Given the description of an element on the screen output the (x, y) to click on. 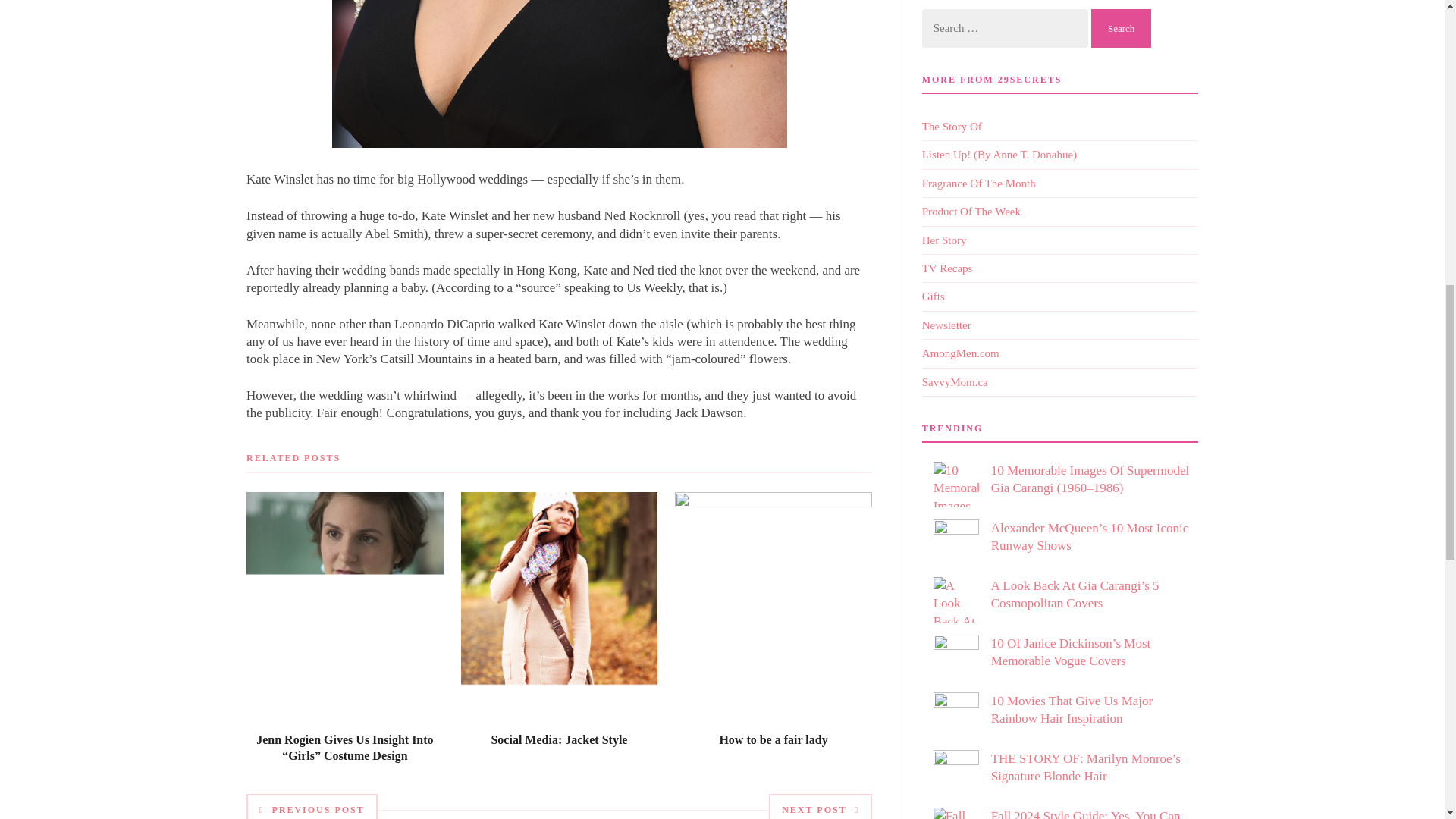
Search (1120, 28)
Search (1120, 28)
Social Media: Jacket Style (558, 739)
